Given the description of an element on the screen output the (x, y) to click on. 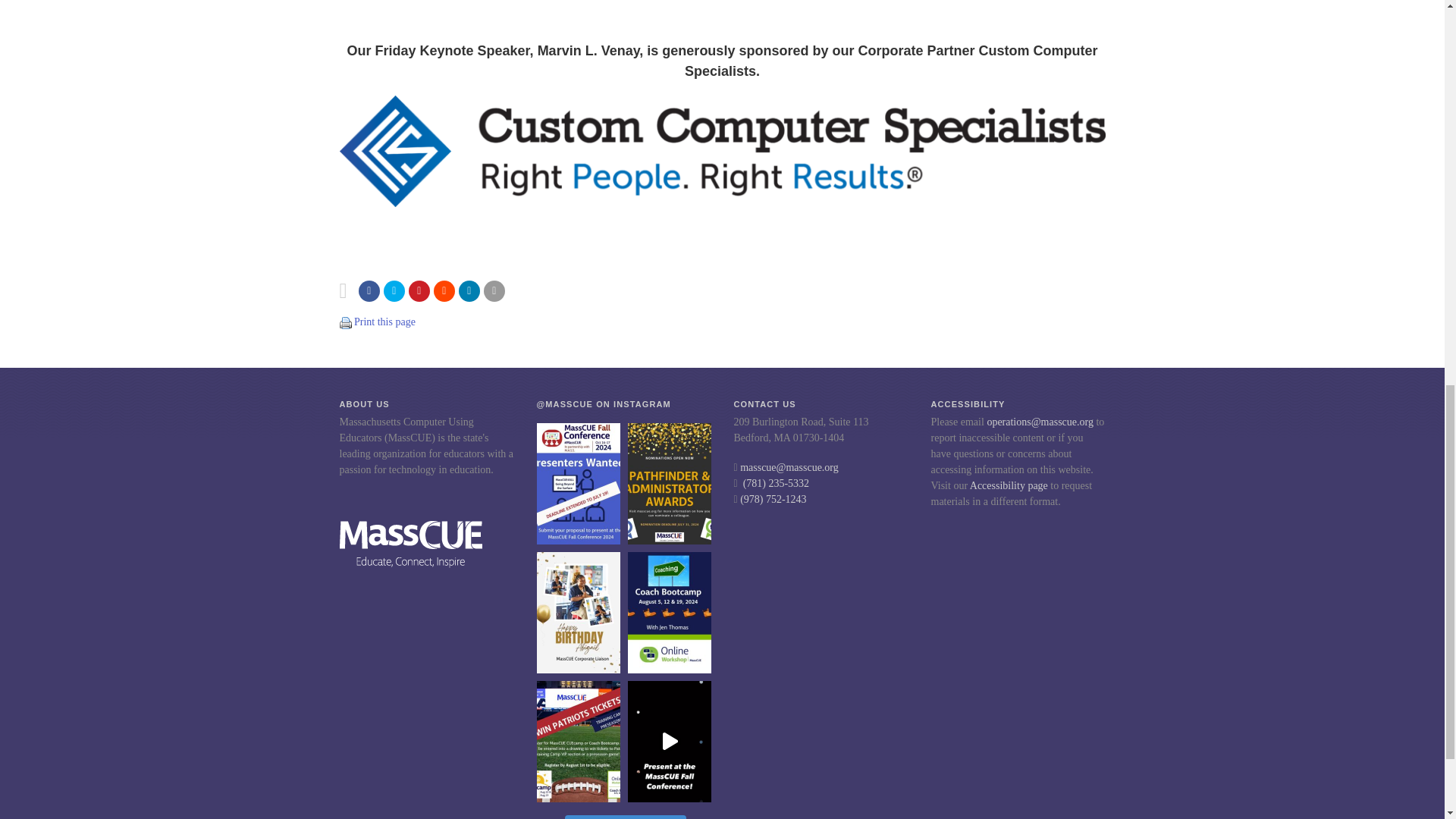
Pin it (419, 291)
Email (494, 291)
Share on Linkedin (469, 291)
Tweet (394, 291)
Print this page (345, 322)
Print this page (383, 321)
Submit to Reddit (443, 291)
Share on Facebook (369, 291)
Print this page (345, 321)
